Given the description of an element on the screen output the (x, y) to click on. 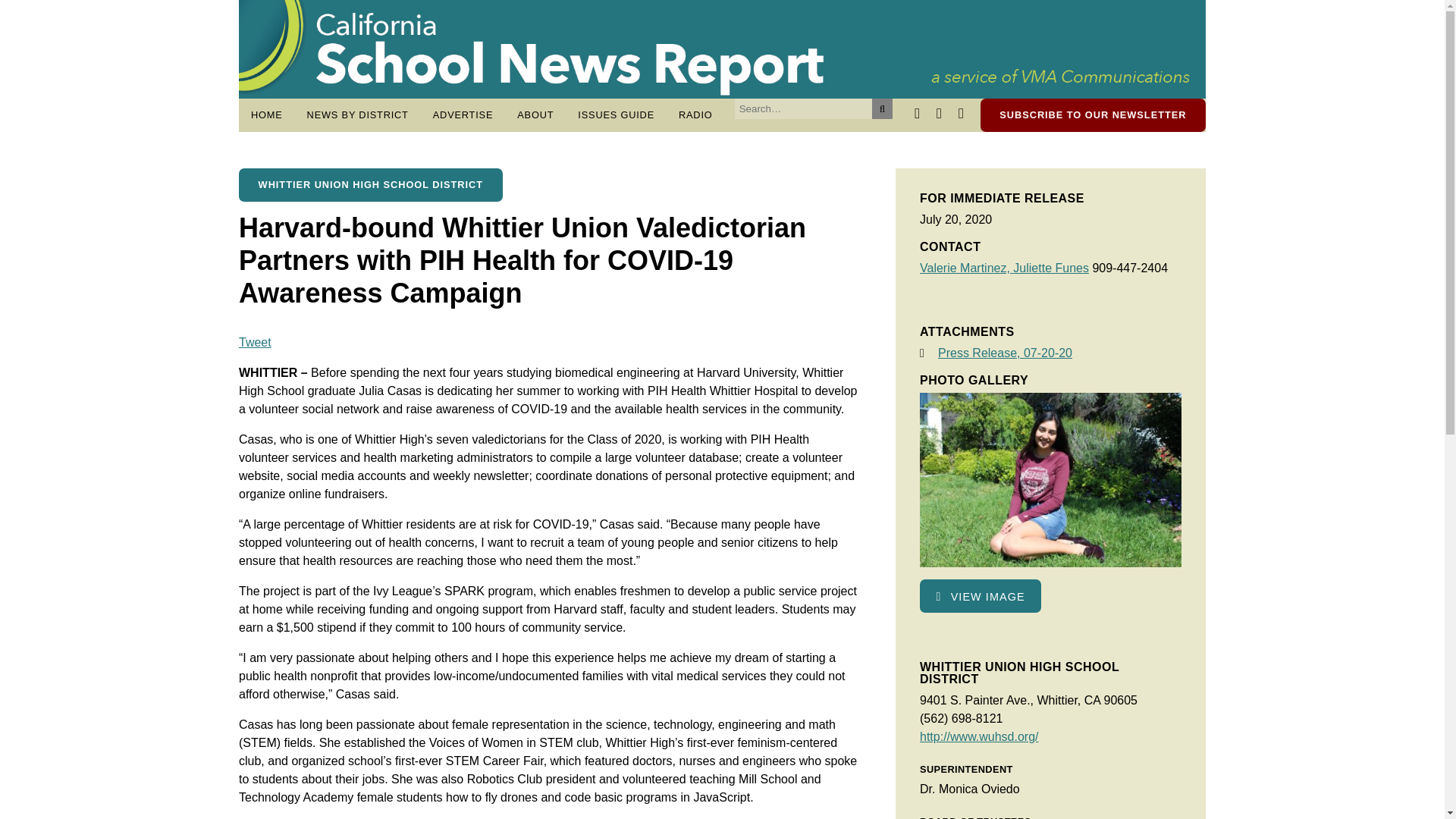
ABOUT (535, 114)
Tweet (254, 341)
ADVERTISE (462, 114)
RADIO (695, 114)
HOME (266, 114)
NEWS BY DISTRICT (357, 114)
ISSUES GUIDE (616, 114)
News by District (357, 114)
WHITTIER UNION HIGH SCHOOL DISTRICT (370, 184)
Search for: (803, 108)
